Given the description of an element on the screen output the (x, y) to click on. 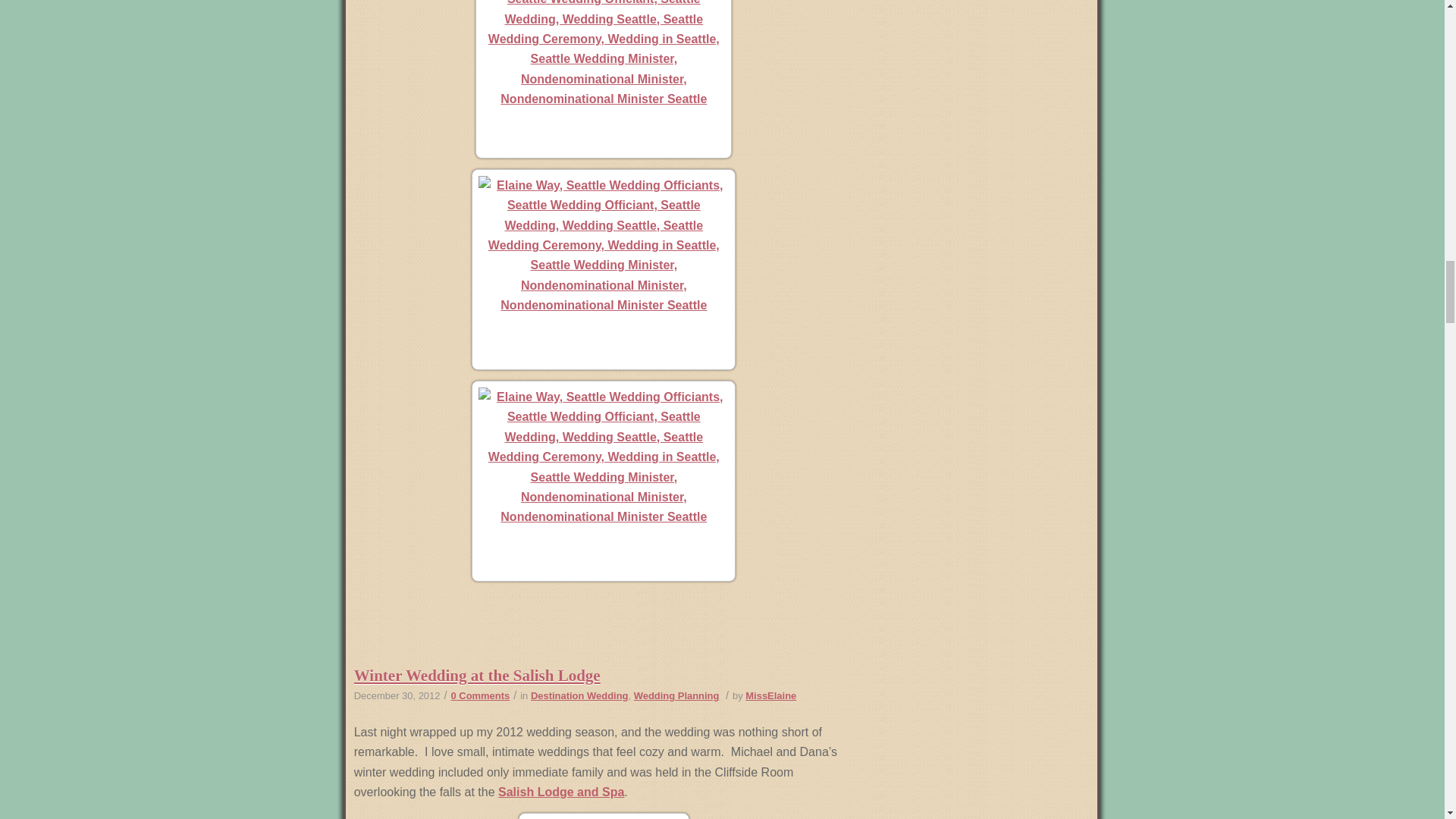
Posts by MissElaine (770, 695)
Permanent Link: Winter Wedding at the Salish Lodge (476, 675)
Salish Lodge (560, 791)
